Given the description of an element on the screen output the (x, y) to click on. 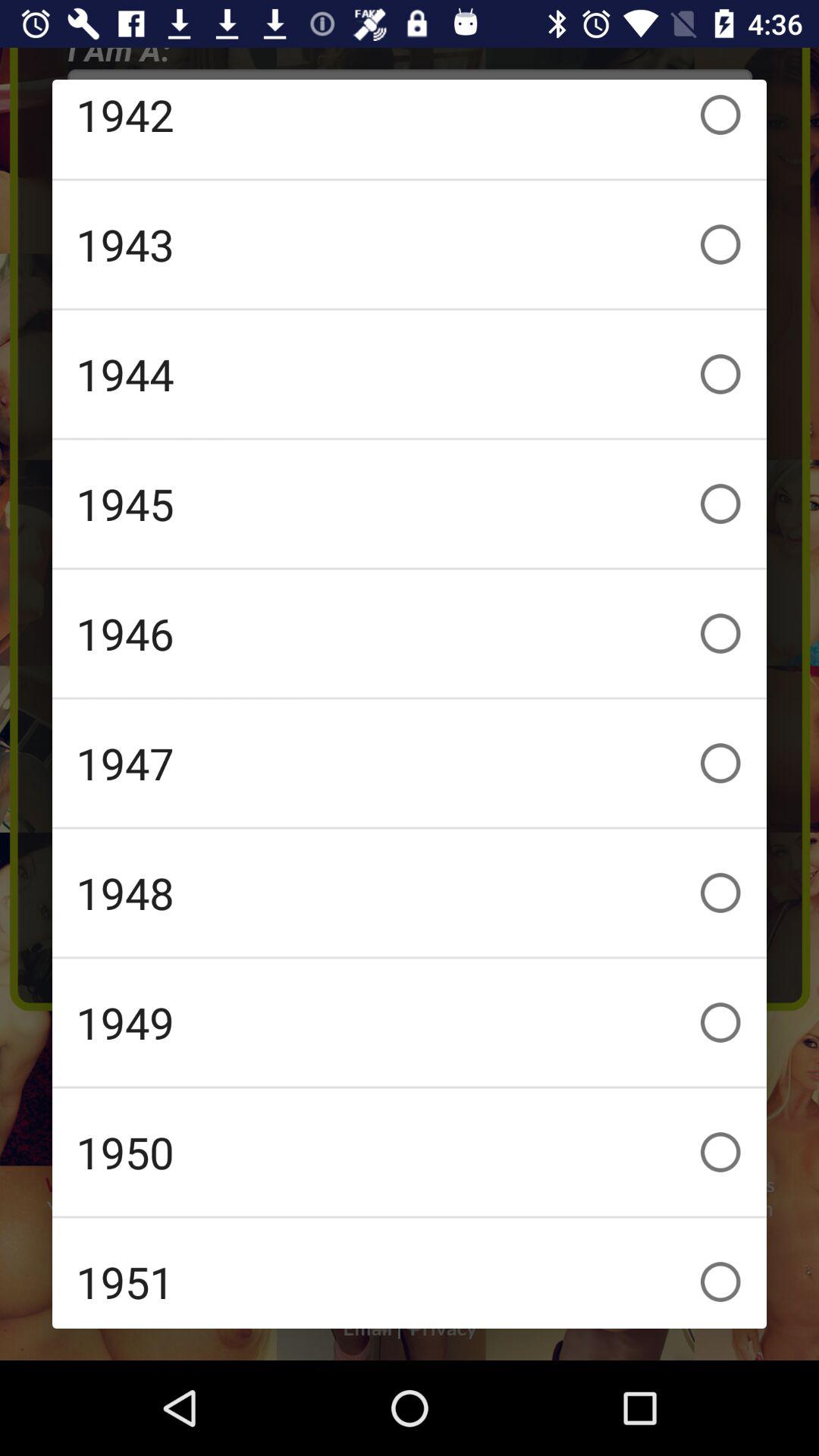
launch the icon below 1946 (409, 762)
